Given the description of an element on the screen output the (x, y) to click on. 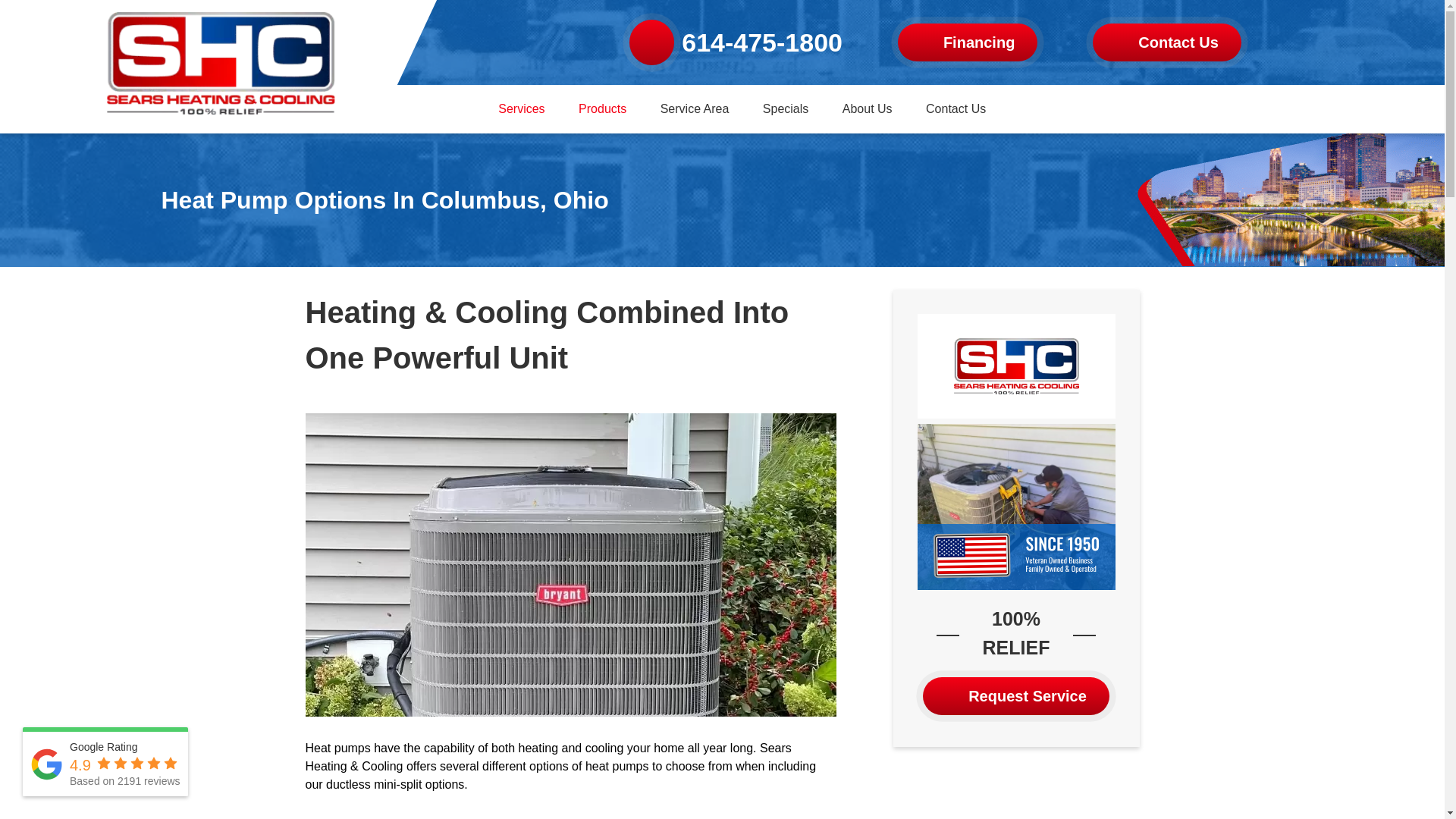
614-475-1800 (735, 42)
Contact Us (1167, 42)
Service Area (694, 109)
Services (521, 109)
Financing (967, 42)
Products (602, 109)
